Given the description of an element on the screen output the (x, y) to click on. 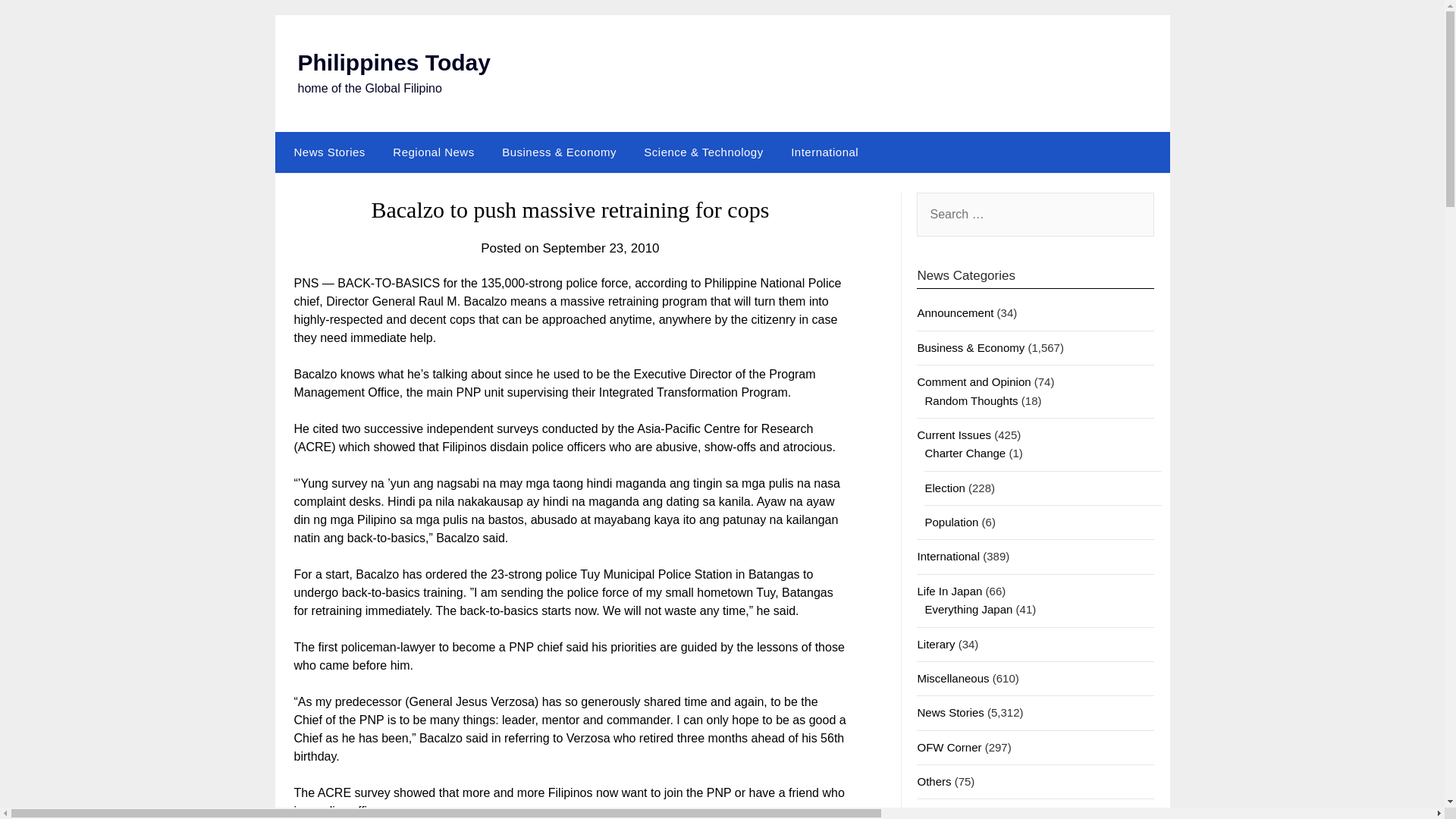
Population (951, 521)
News Stories (326, 151)
Philippines Today (393, 62)
Announcement (954, 312)
Others (933, 780)
Literary (936, 644)
Miscellaneous (952, 677)
People (934, 814)
International (948, 555)
Charter Change (965, 452)
News Stories (950, 712)
Search (38, 22)
Everything Japan (967, 608)
OFW Corner (949, 747)
Random Thoughts (970, 400)
